Given the description of an element on the screen output the (x, y) to click on. 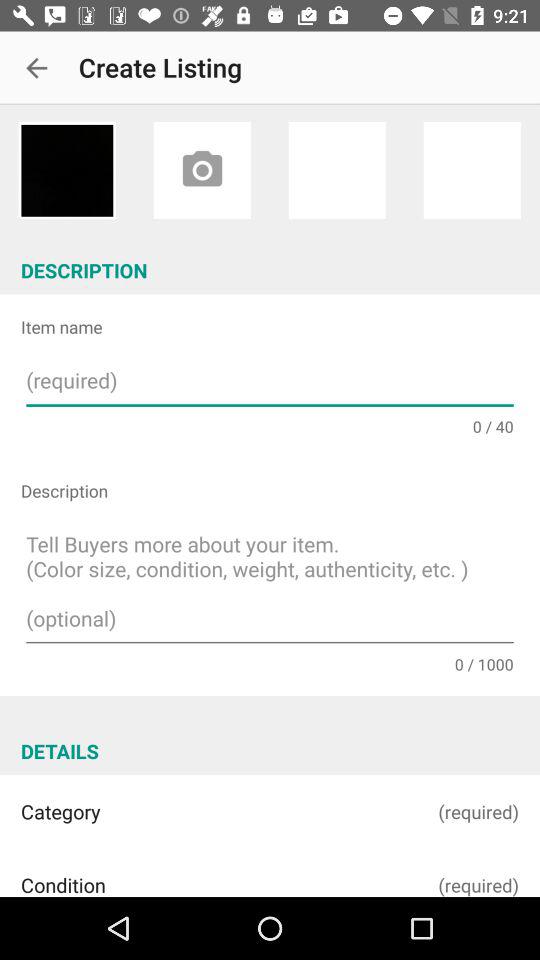
select the text below the 2nd description (269, 585)
